Given the description of an element on the screen output the (x, y) to click on. 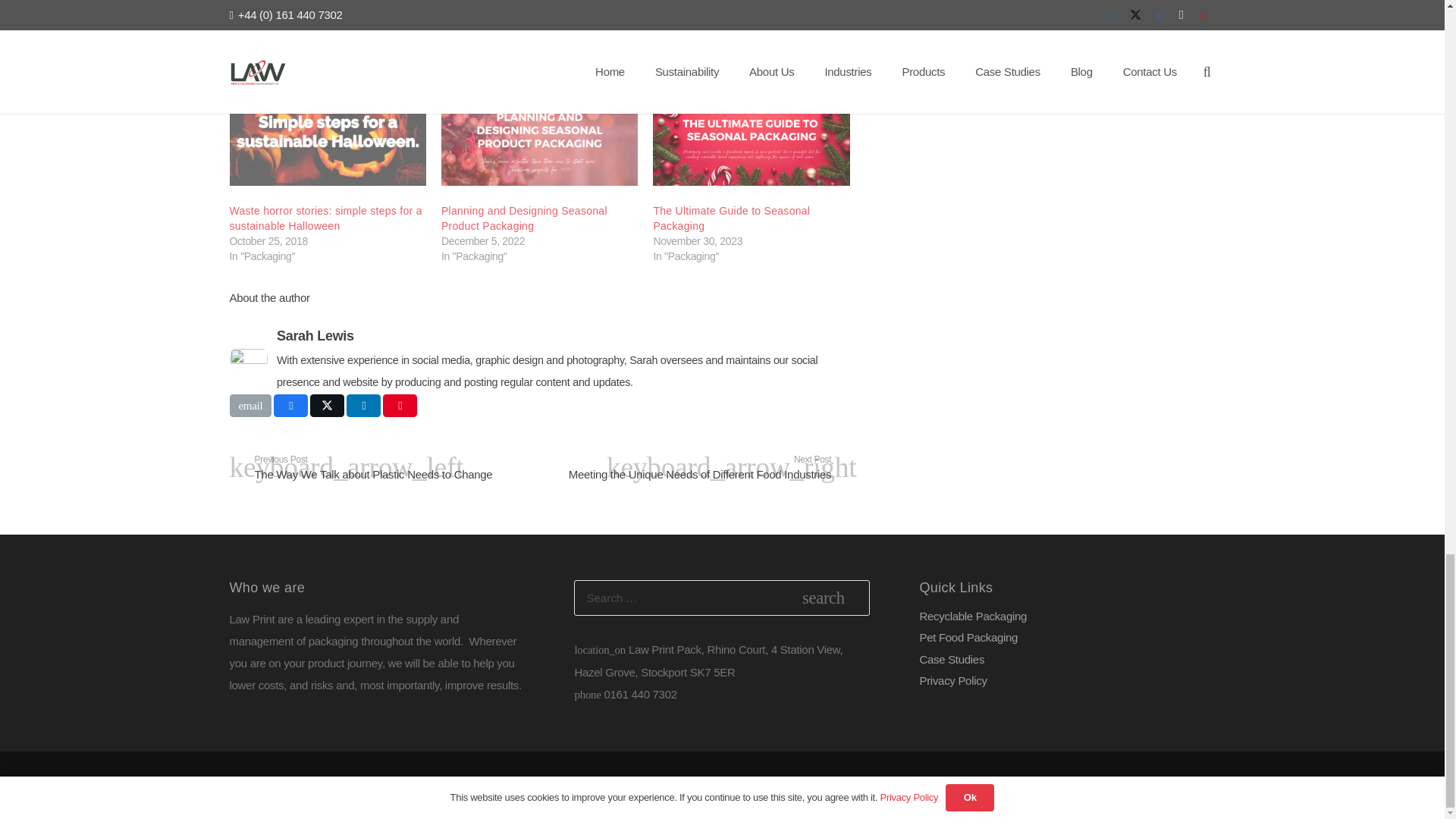
Planning and Designing Seasonal Product Packaging (524, 217)
Email this (249, 404)
The Ultimate Guide to Seasonal Packaging (750, 129)
The Ultimate Guide to Seasonal Packaging (730, 217)
Share this (290, 404)
Planning and Designing Seasonal Product Packaging (539, 129)
